Given the description of an element on the screen output the (x, y) to click on. 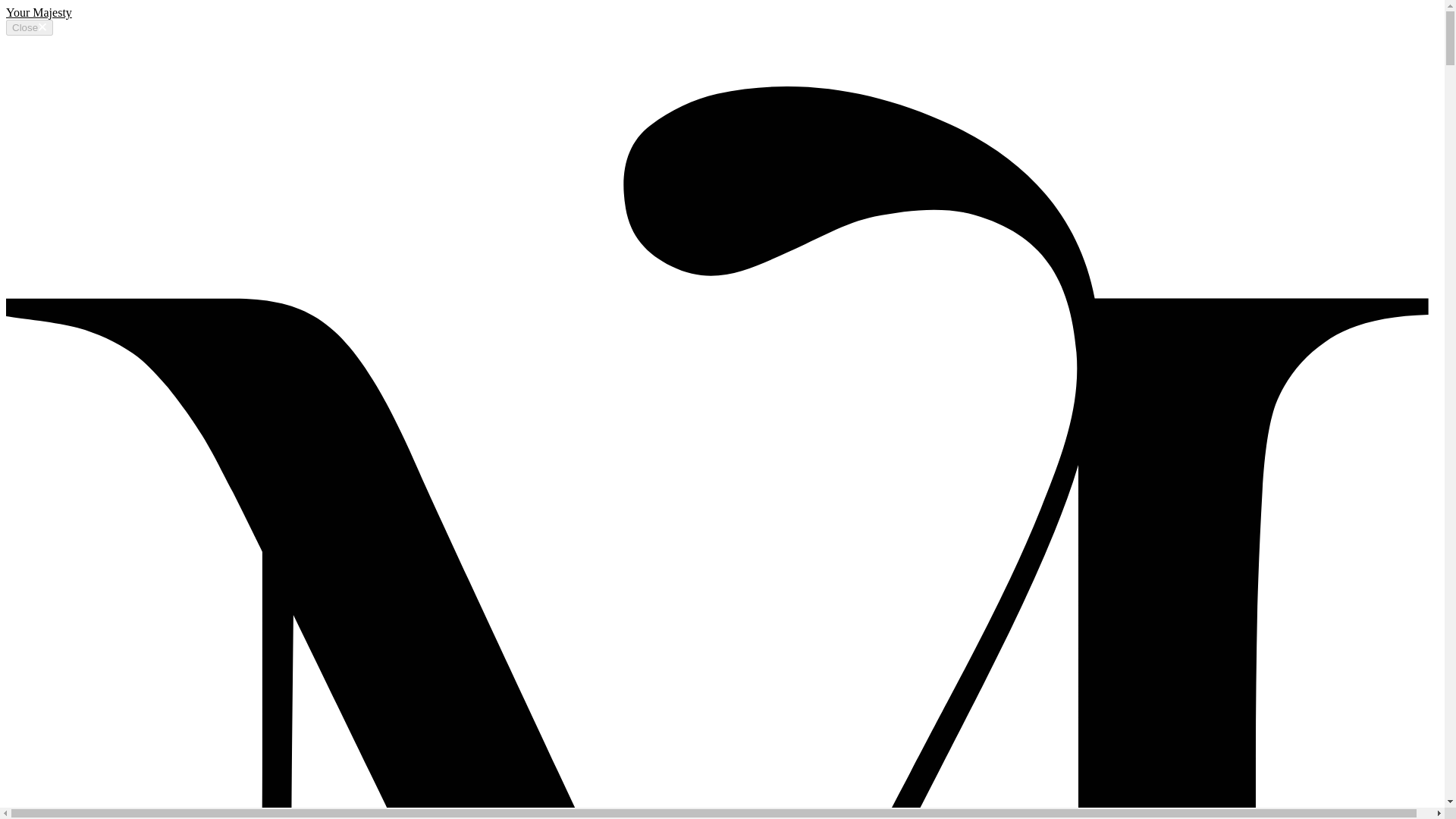
Your Majesty (38, 11)
Close (28, 27)
